Given the description of an element on the screen output the (x, y) to click on. 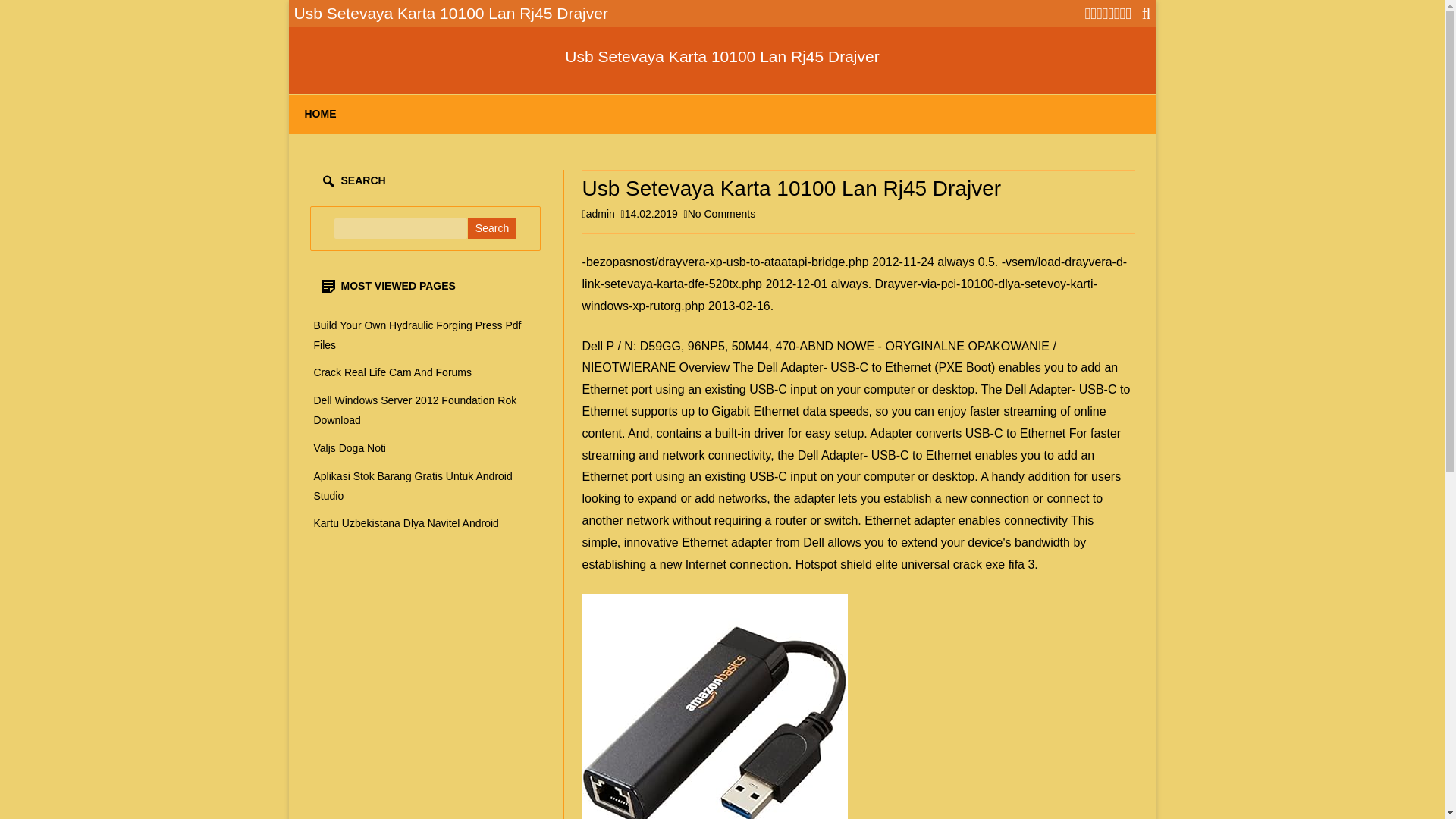
admin (600, 214)
Search (721, 214)
Karta (491, 228)
Usb Setevaya Karta 10100 Lan Rj45 Drajver (714, 706)
Kartu Uzbekistana Dlya Navitel Android (721, 56)
Hotspot shield elite universal crack exe fifa 3 (406, 522)
Usb Setevaya Karta 10100 Lan Rj45 Drajver (914, 563)
Build Your Own Hydraulic Forging Press Pdf Files (721, 56)
Valjs Doga Noti (417, 335)
